Given the description of an element on the screen output the (x, y) to click on. 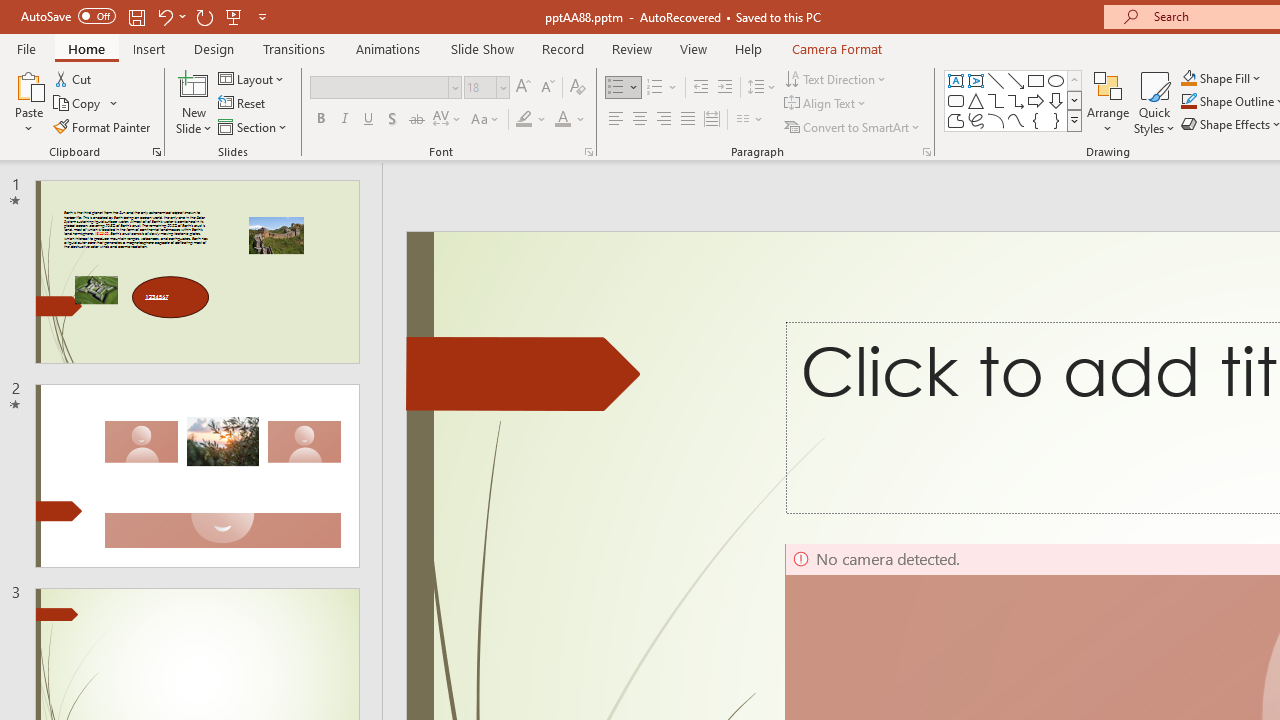
Align Text (826, 103)
Paste (28, 84)
Help (748, 48)
Numbering (661, 87)
Oval (1055, 80)
Italic (344, 119)
Home (86, 48)
New Slide (193, 84)
Row up (1074, 79)
Text Highlight Color Yellow (524, 119)
Arrange (1108, 102)
Animations (388, 48)
Convert to SmartArt (853, 126)
Paragraph... (926, 151)
